Given the description of an element on the screen output the (x, y) to click on. 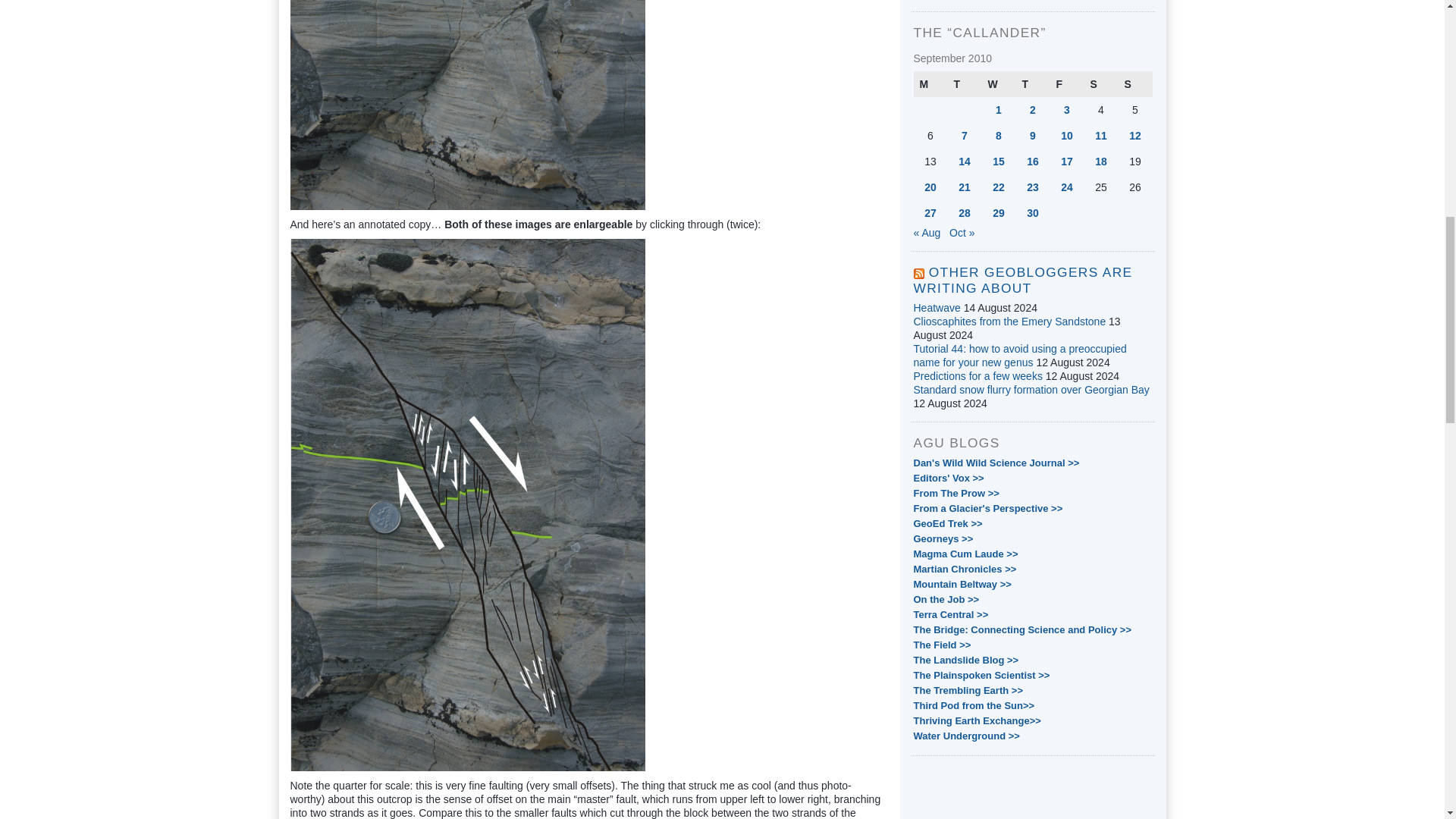
3rd party ad content (1032, 794)
Wednesday (997, 84)
Thursday (1032, 84)
Sunday (1134, 84)
Monday (929, 84)
Friday (1066, 84)
Saturday (1101, 84)
Tuesday (964, 84)
